Given the description of an element on the screen output the (x, y) to click on. 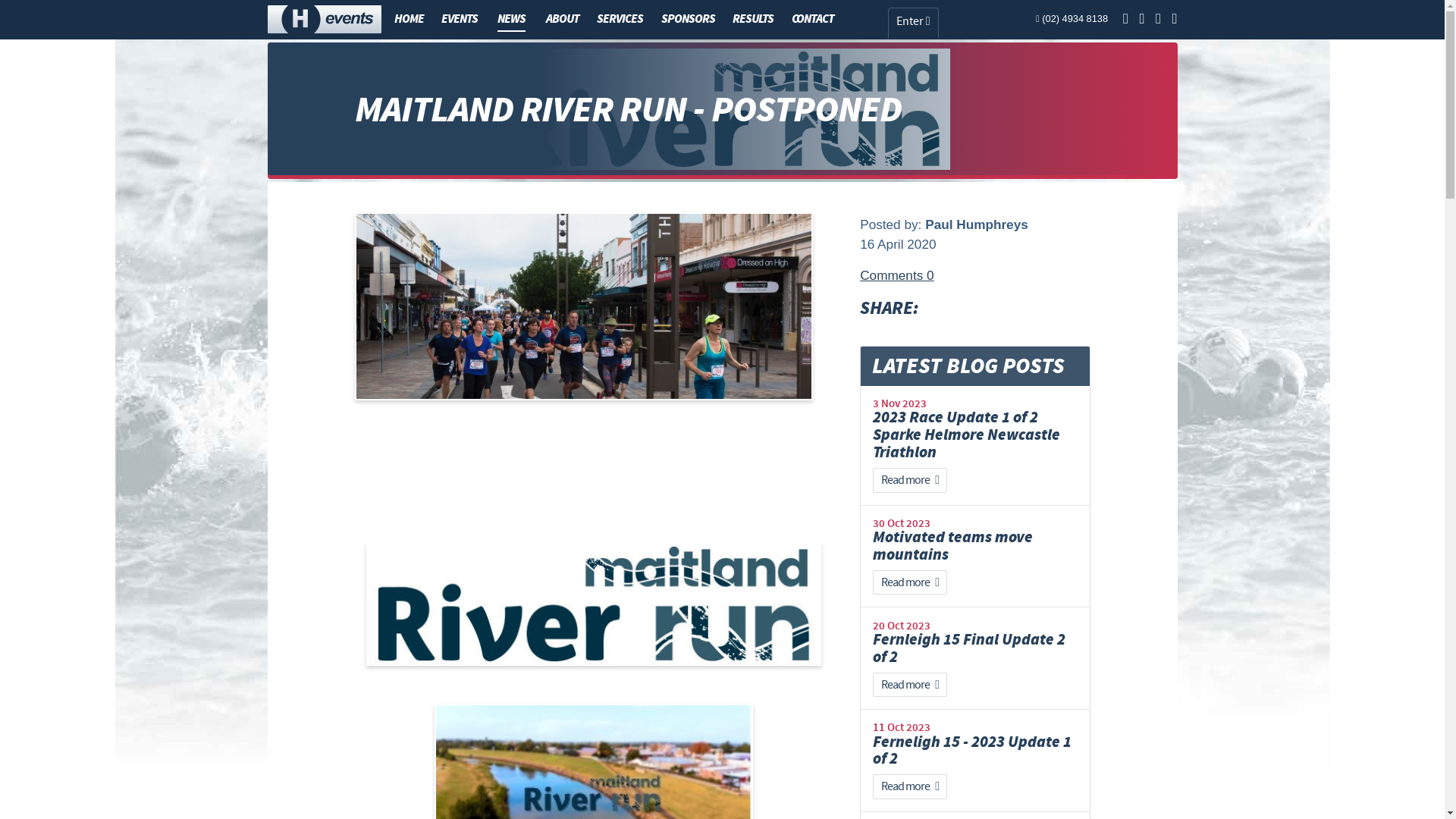
Read more Element type: text (909, 684)
ABOUT Element type: text (562, 18)
SPONSORS Element type: text (687, 18)
Comments 0 Element type: text (896, 274)
Enter Element type: text (913, 22)
EVENTS Element type: text (459, 18)
Read more Element type: text (909, 479)
NEWS Element type: text (511, 19)
SERVICES Element type: text (619, 18)
Read more Element type: text (909, 786)
CONTACT Element type: text (812, 18)
Read more Element type: text (909, 582)
HOME Element type: text (408, 18)
RESULTS Element type: text (752, 18)
